Given the description of an element on the screen output the (x, y) to click on. 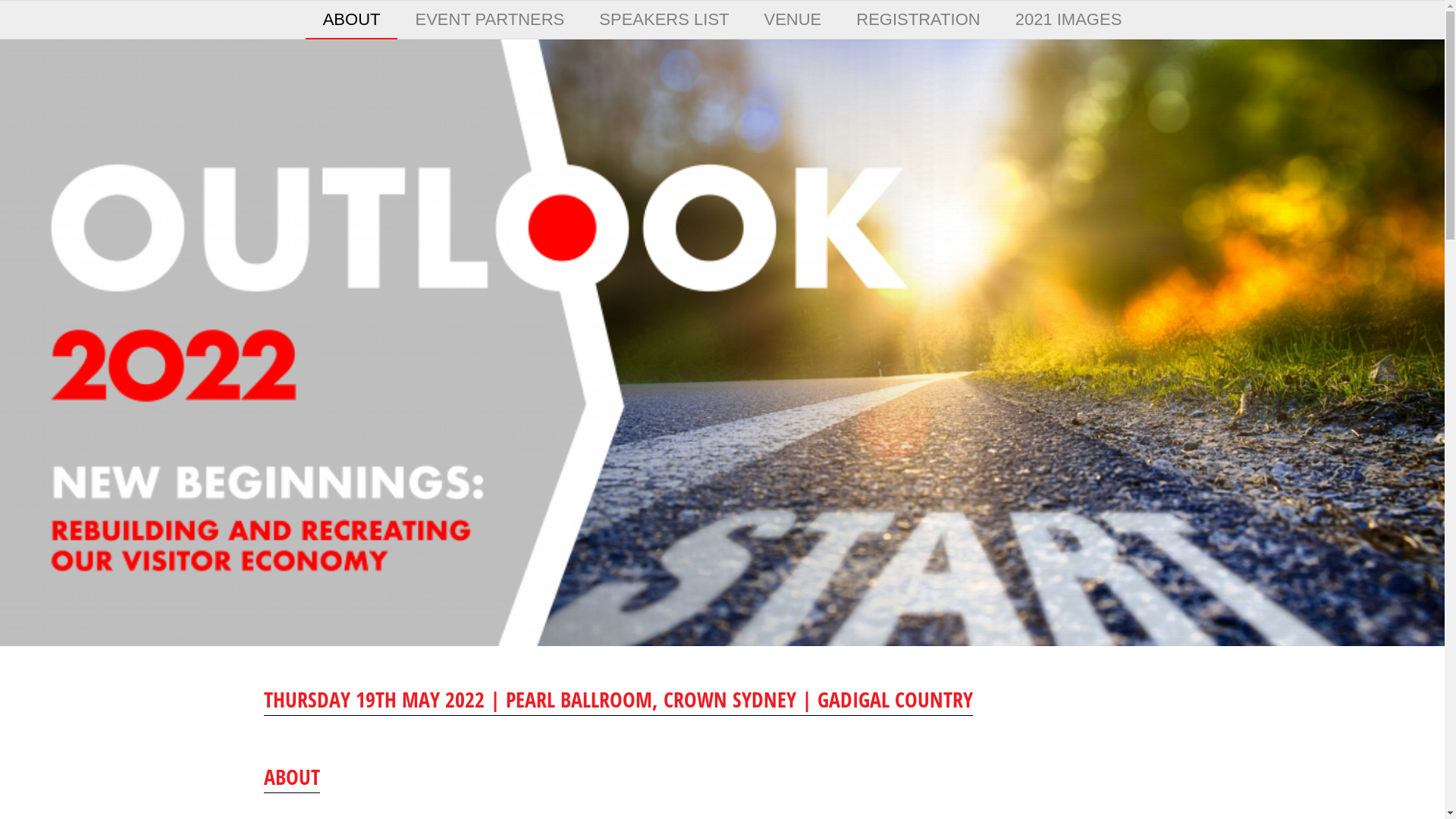
ABOUT Element type: text (351, 19)
OUTLOOK 2022 Banners (1) Element type: hover (722, 342)
EVENT PARTNERS Element type: text (489, 19)
2021 IMAGES Element type: text (1068, 19)
SPEAKERS LIST Element type: text (663, 19)
VENUE Element type: text (792, 19)
REGISTRATION Element type: text (917, 19)
